Given the description of an element on the screen output the (x, y) to click on. 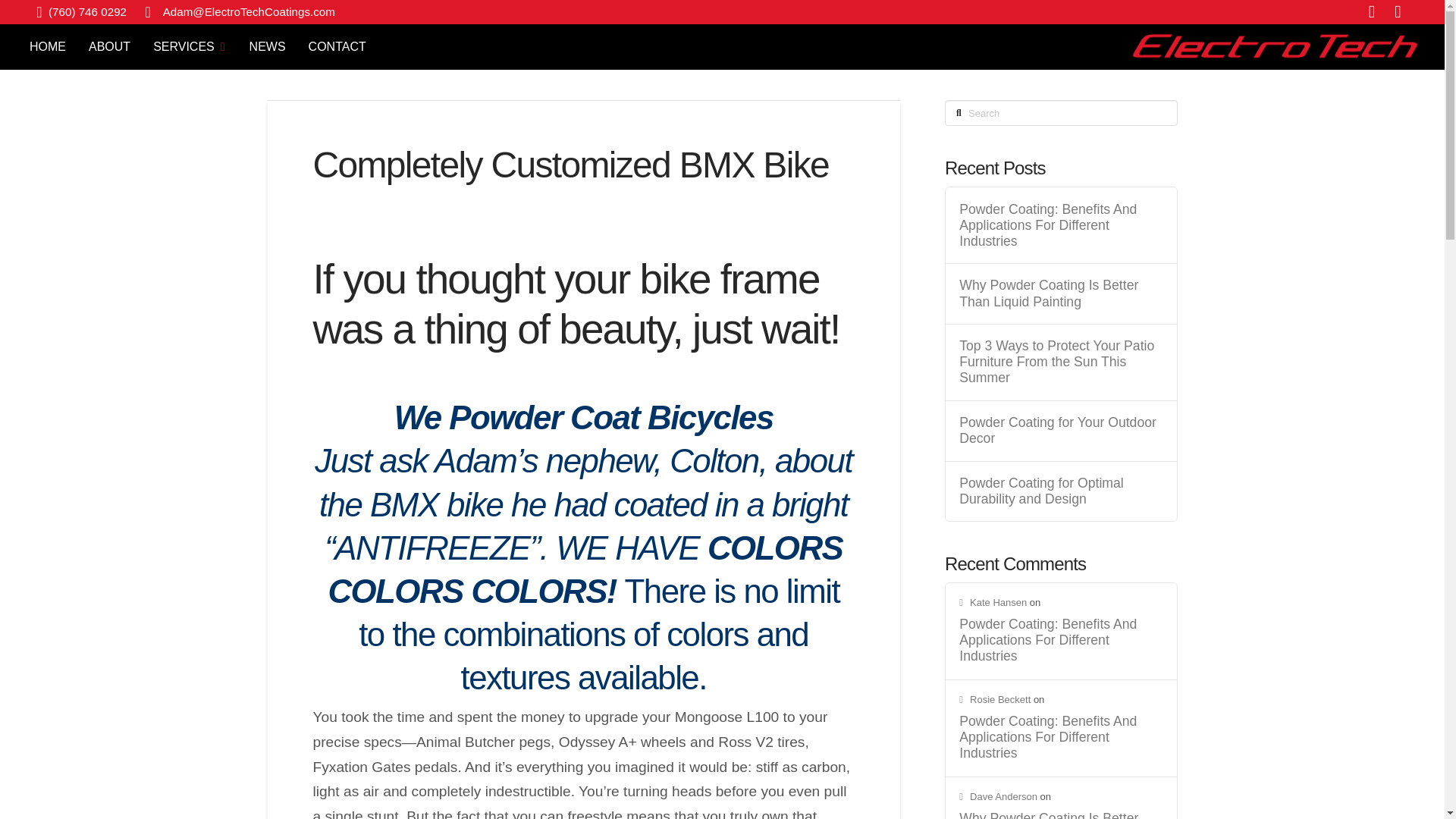
Powder Coating for Optimal Durability and Design (1060, 490)
CONTACT (337, 46)
Powder Coating for Your Outdoor Decor (1060, 430)
SERVICES (189, 46)
HOME (47, 46)
NEWS (267, 46)
Why Powder Coating Is Better Than Liquid Painting (1060, 293)
ABOUT (109, 46)
